Given the description of an element on the screen output the (x, y) to click on. 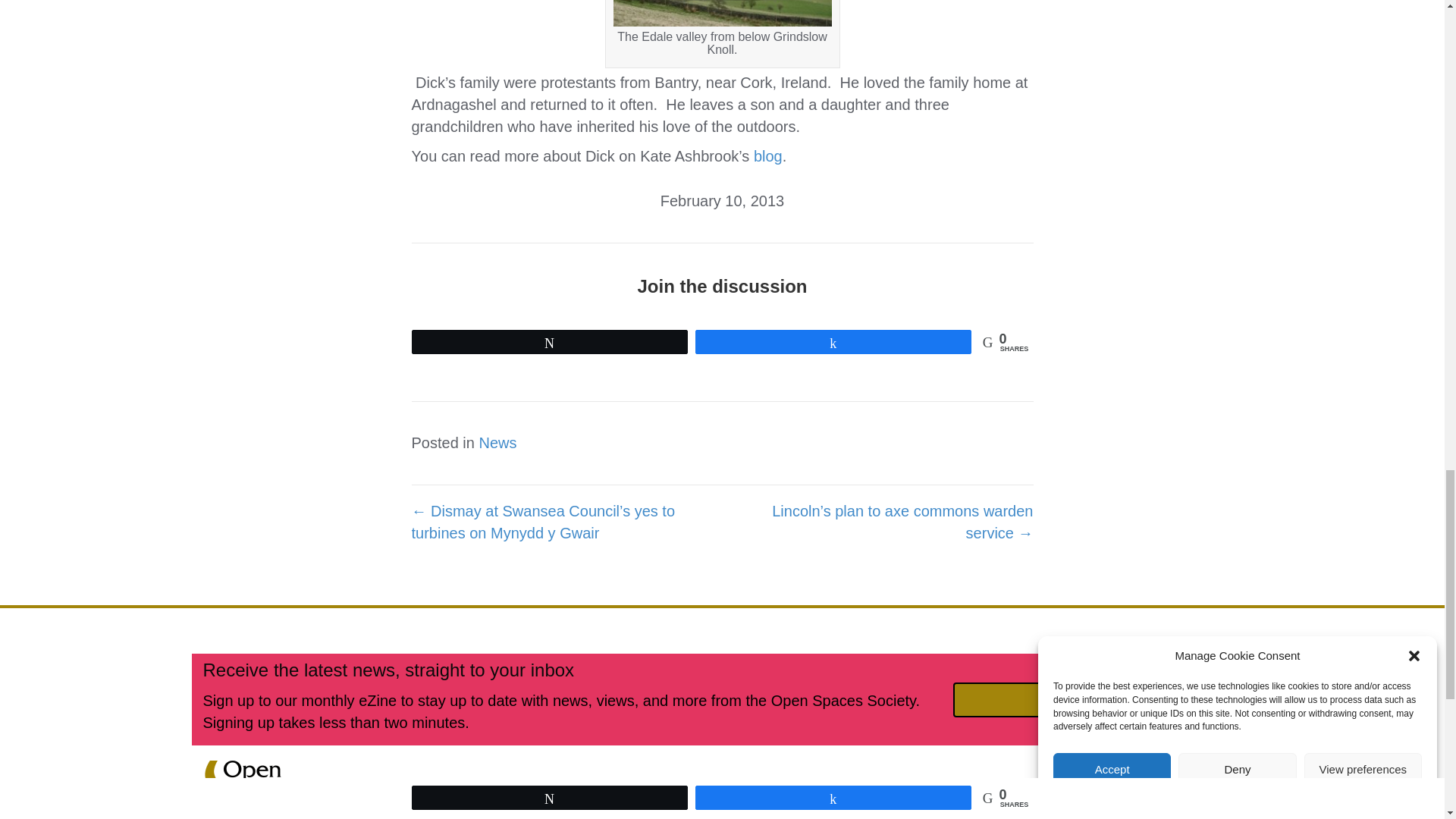
oss-logo (247, 789)
Kate's blog (768, 156)
Edale valley web (721, 13)
